Given the description of an element on the screen output the (x, y) to click on. 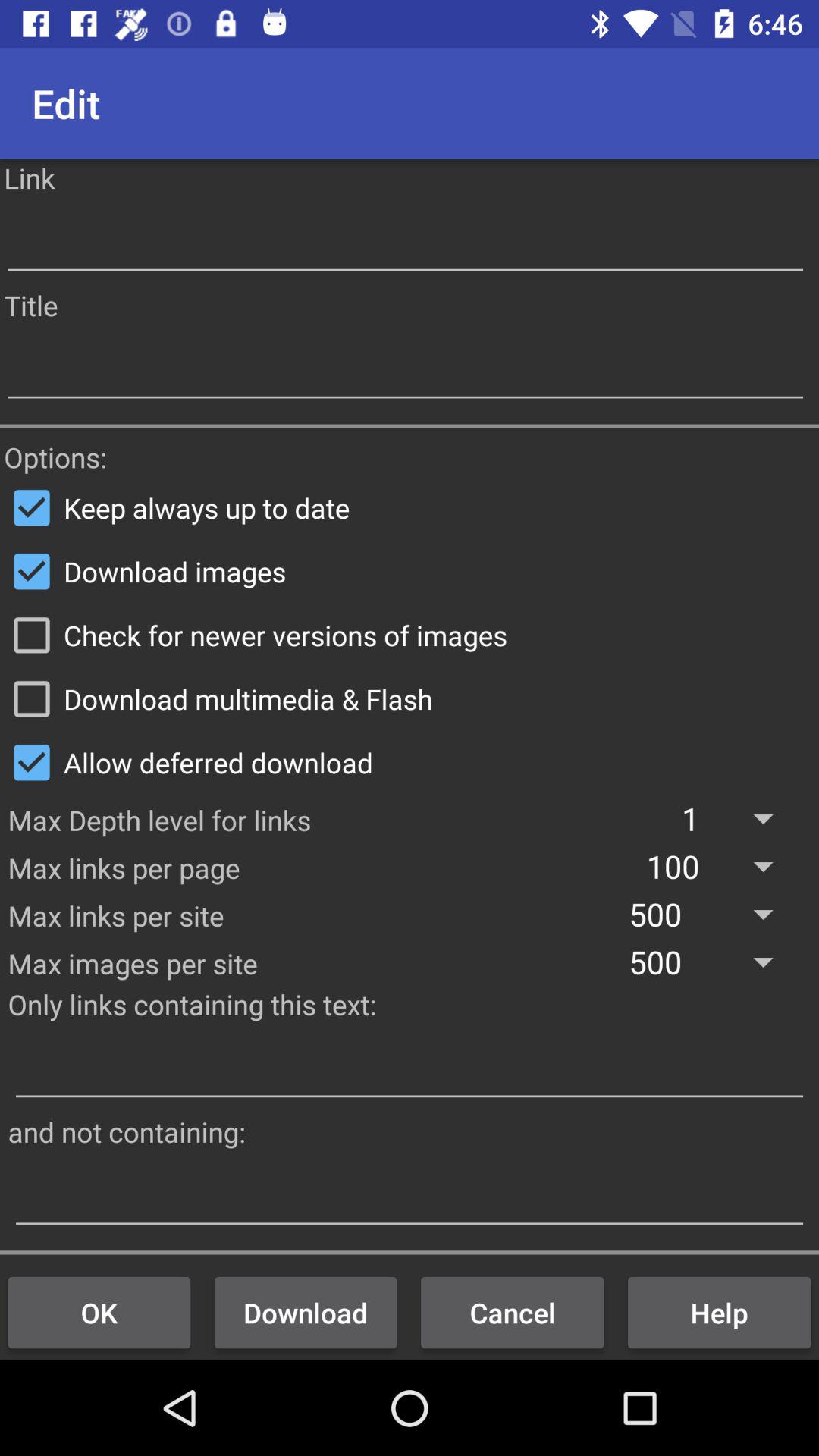
flip to the check for newer icon (409, 635)
